Given the description of an element on the screen output the (x, y) to click on. 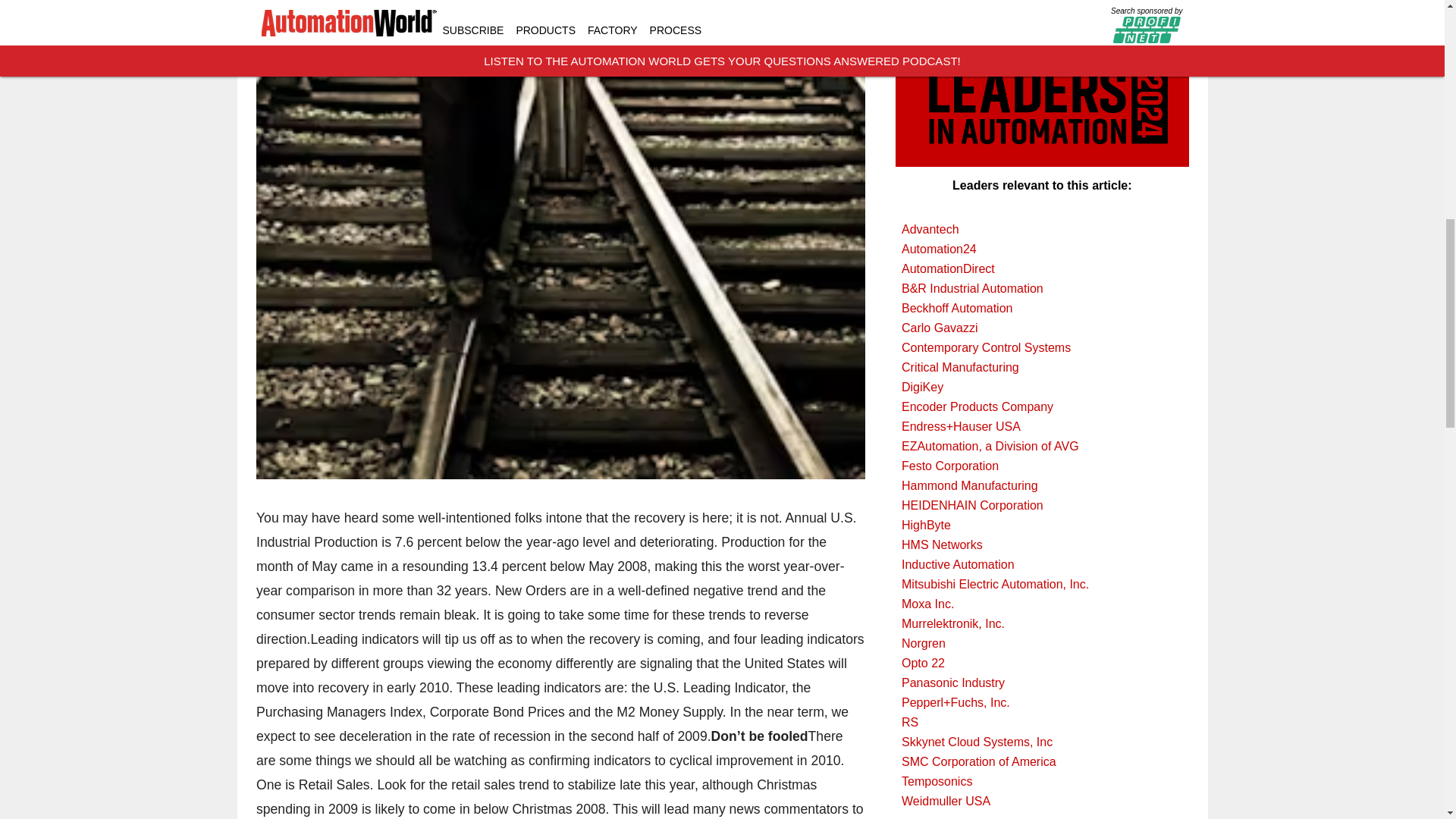
AutomationDirect (1042, 269)
Beckhoff Automation (1042, 308)
Carlo Gavazzi (1042, 328)
Contemporary Control Systems (1042, 347)
Advantech (1042, 229)
DigiKey (1042, 387)
Critical Manufacturing (1042, 367)
Automation24 (1042, 249)
